Given the description of an element on the screen output the (x, y) to click on. 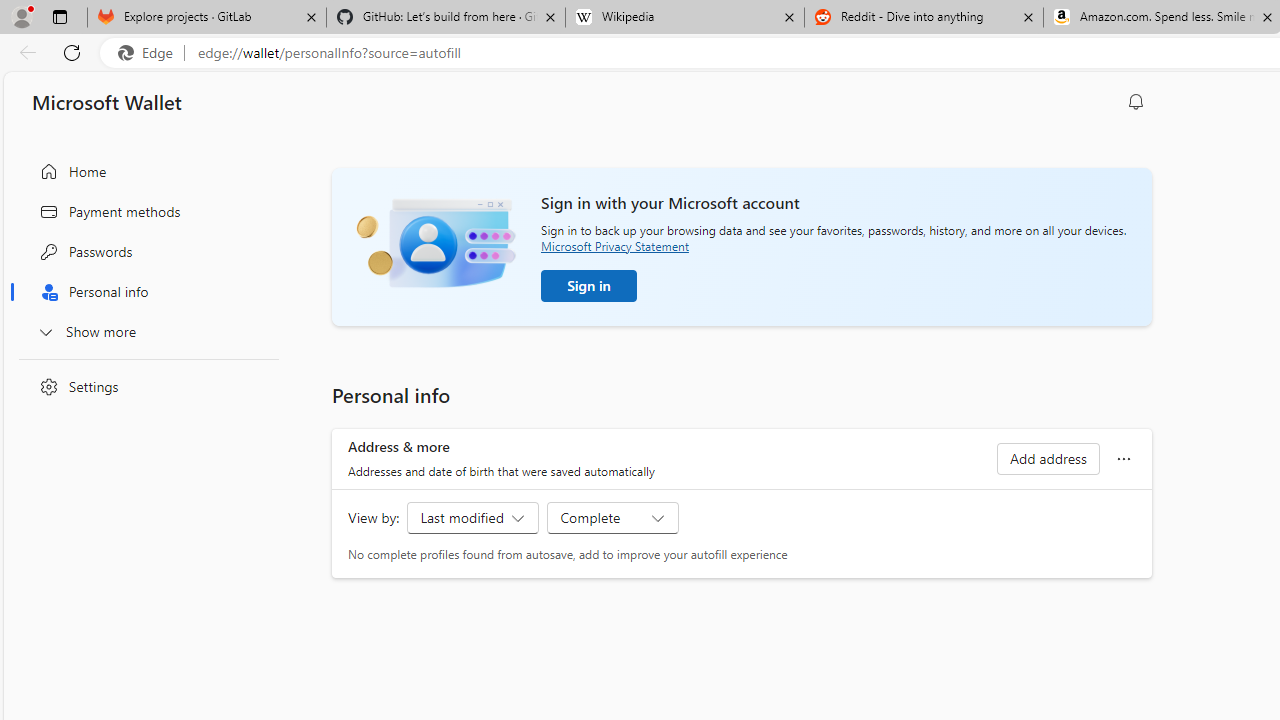
Notification (1136, 101)
View by: (612, 517)
Add address (1047, 458)
Personal info (143, 292)
Edge (150, 53)
Show more (143, 331)
Passwords (143, 252)
Payment methods (143, 211)
Microsoft Privacy Statement (614, 246)
